Given the description of an element on the screen output the (x, y) to click on. 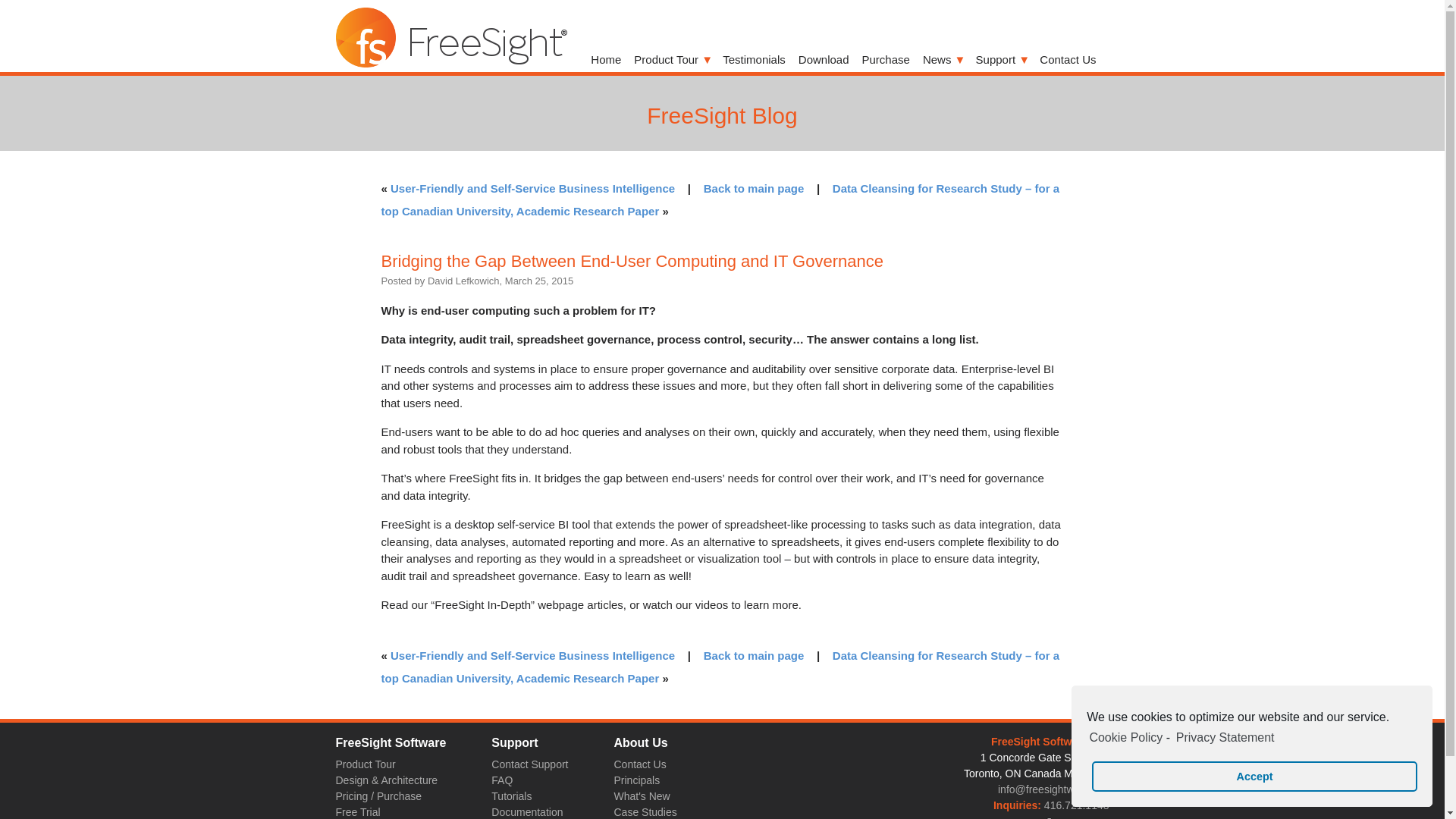
Back to main page (754, 655)
News (942, 59)
Download (822, 59)
Back to main page (754, 187)
Product Tour (671, 59)
Tutorials (511, 796)
Purchase (885, 59)
Product Tour (364, 764)
Product Tour (671, 59)
Support (1001, 59)
Support (1001, 59)
User-Friendly and Self-Service Business Intelligence (532, 187)
FAQ (502, 780)
Testimonials (754, 59)
What's New (640, 796)
